Given the description of an element on the screen output the (x, y) to click on. 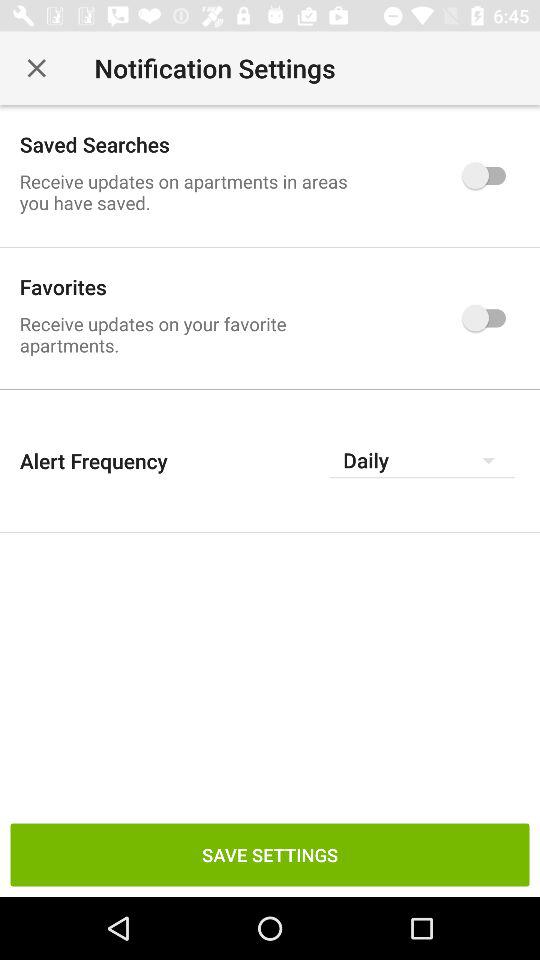
toggle updates on favorite apartments (488, 318)
